Given the description of an element on the screen output the (x, y) to click on. 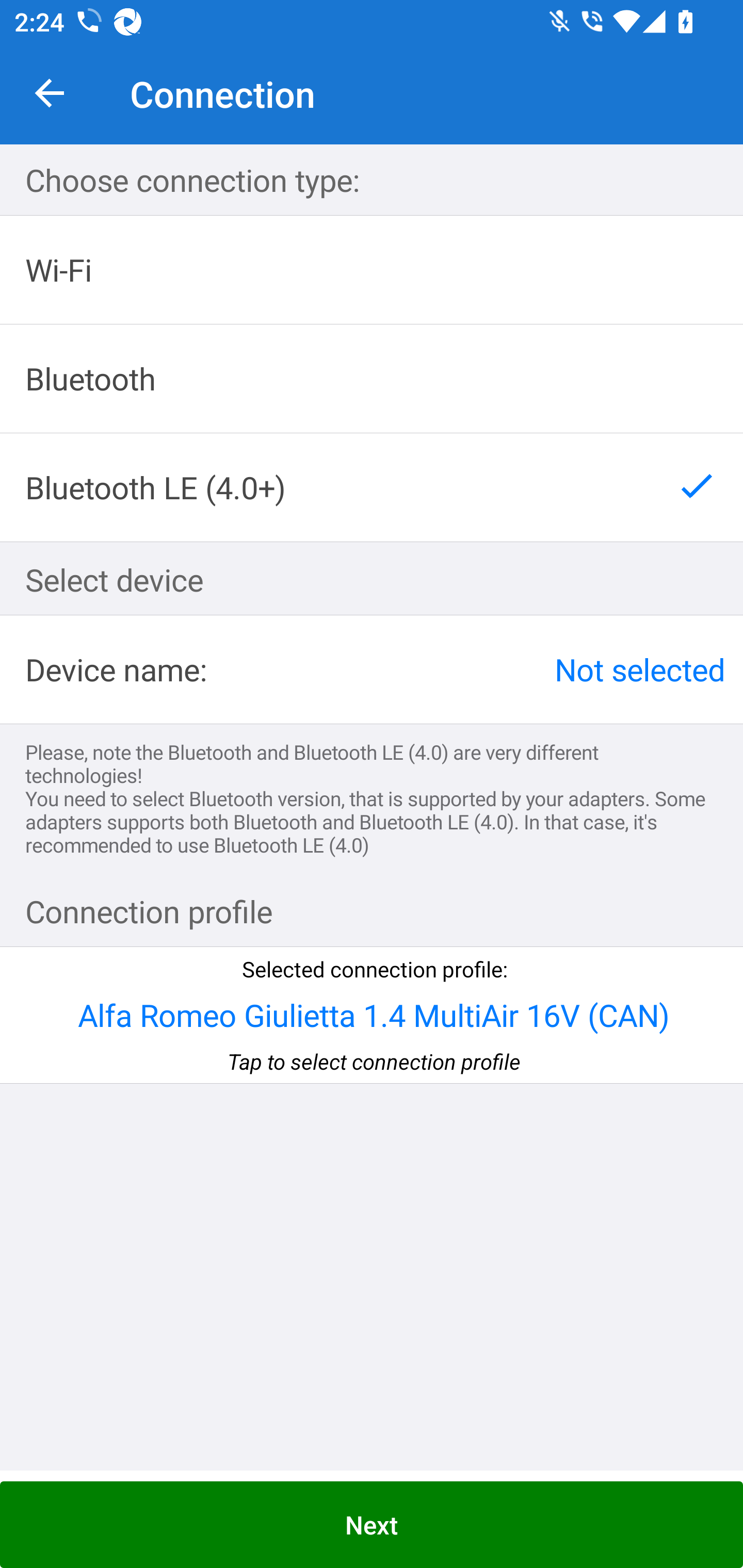
Wi-Fi (371, 270)
Bluetooth (371, 378)
Bluetooth LE (4.0+) (371, 486)
Device name: Not selected (371, 669)
Next (371, 1524)
